Given the description of an element on the screen output the (x, y) to click on. 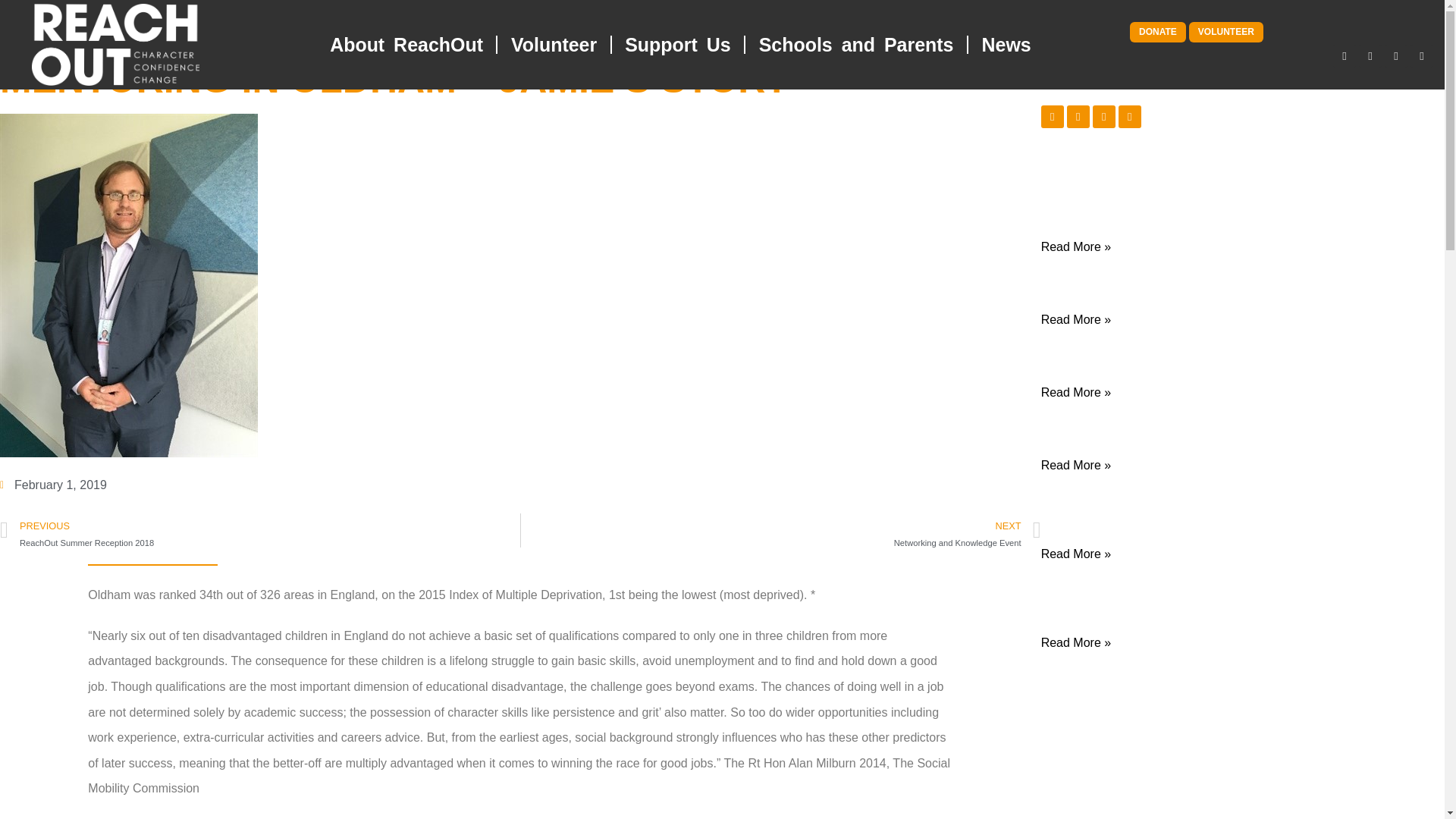
Support Us (677, 44)
News (1005, 44)
About ReachOut (406, 44)
Schools and Parents (855, 44)
Volunteer (553, 44)
